Given the description of an element on the screen output the (x, y) to click on. 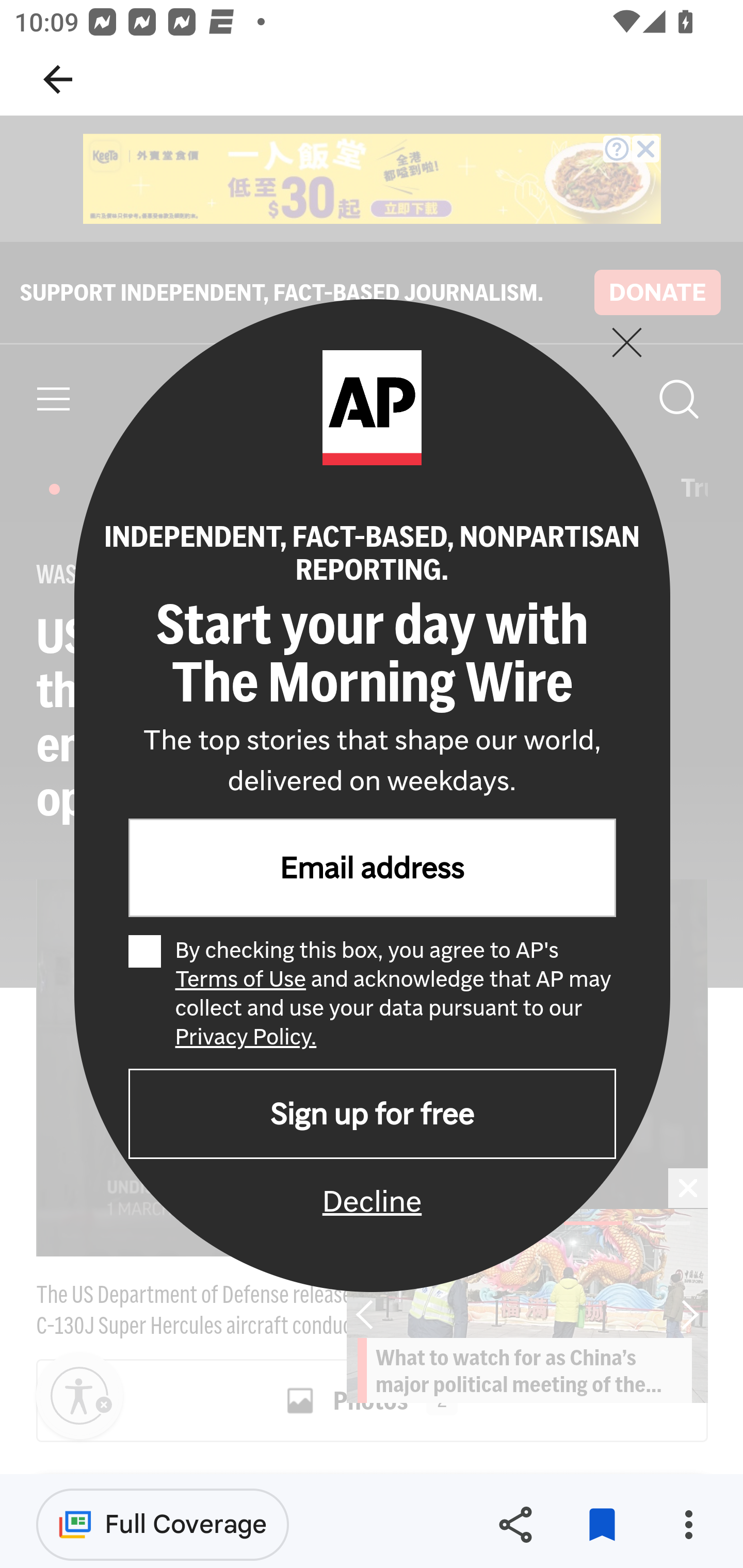
Navigate up (57, 79)
close email sign up dialog (626, 341)
Terms of Use (239, 979)
Privacy Policy. (245, 1037)
Sign up for free (371, 1114)
Decline; close the dialog (371, 1200)
Share (514, 1524)
Remove from saved stories (601, 1524)
More options (688, 1524)
Full Coverage (162, 1524)
